Given the description of an element on the screen output the (x, y) to click on. 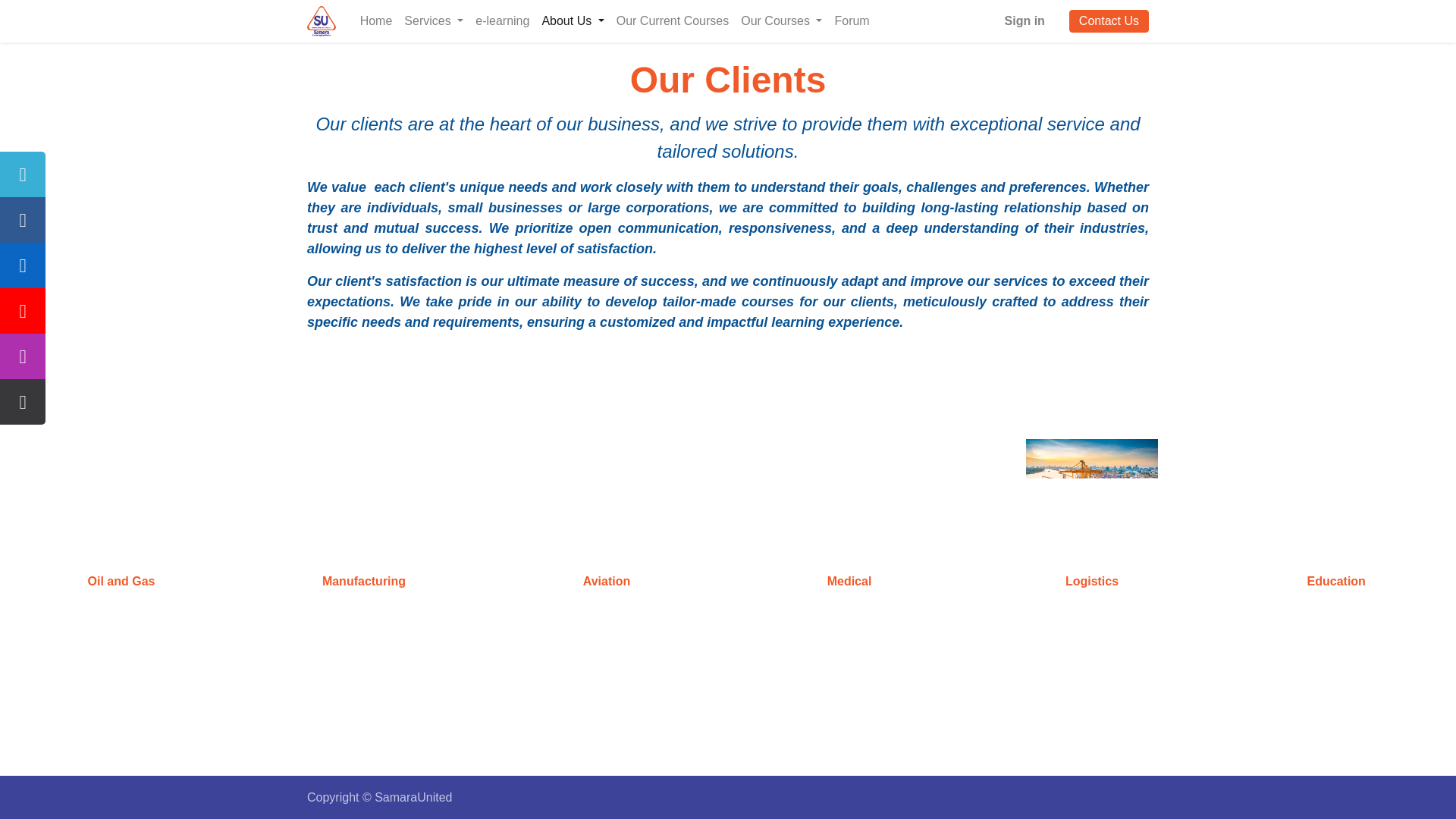
Samara United (321, 20)
Our Current Courses (672, 20)
Home (375, 20)
Our Courses (781, 20)
Contact Us (1108, 20)
Services (432, 20)
About Us (572, 20)
e-learning (501, 20)
Forum (851, 20)
Sign in (1024, 20)
